Given the description of an element on the screen output the (x, y) to click on. 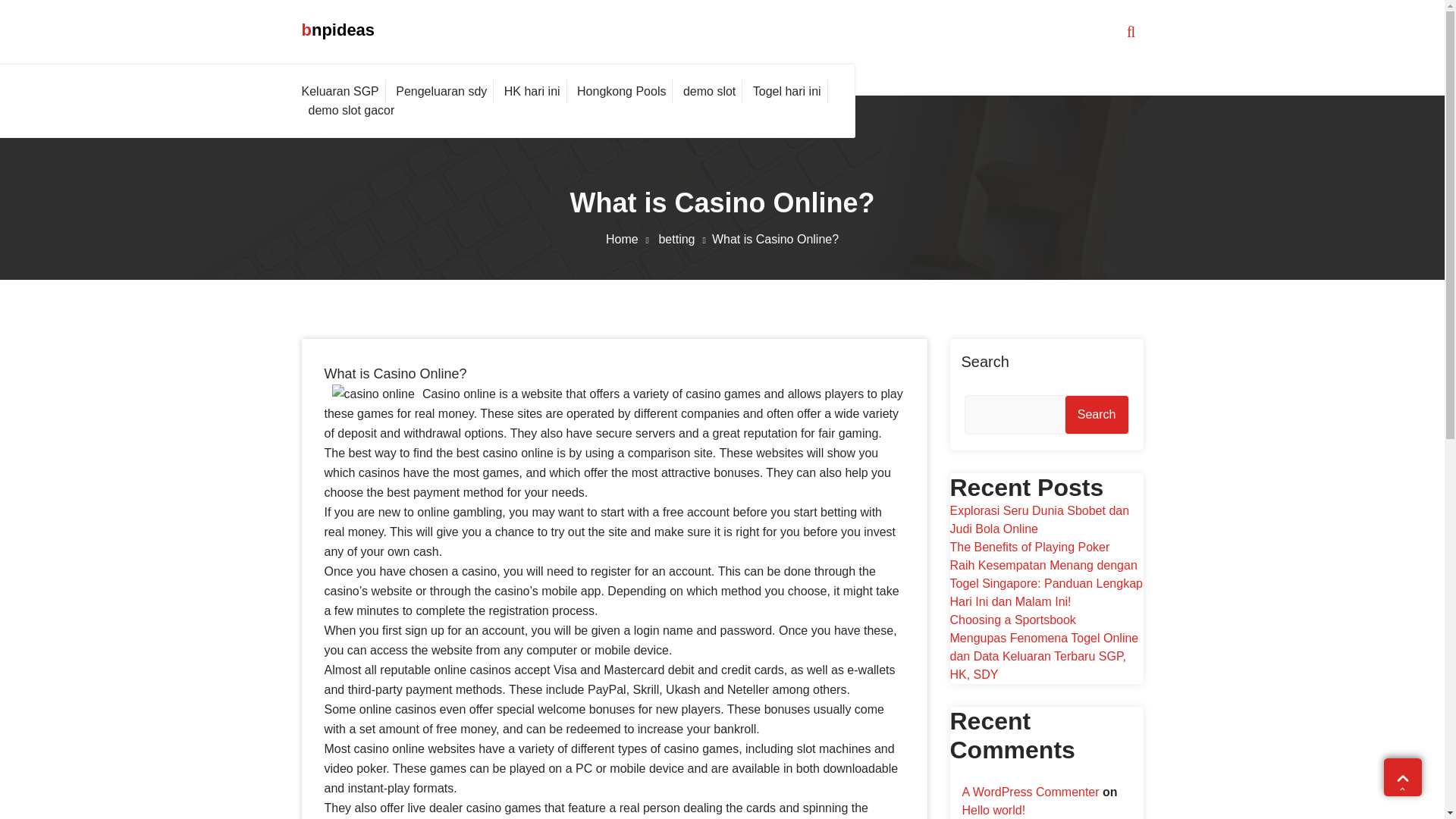
betting (684, 238)
Choosing a Sportsbook (1012, 619)
bnpideas (338, 30)
Pengeluaran sdy (440, 91)
demo slot gacor (351, 110)
demo slot (709, 91)
Hongkong Pools (621, 91)
demo slot gacor (351, 110)
A WordPress Commenter (1029, 791)
